Given the description of an element on the screen output the (x, y) to click on. 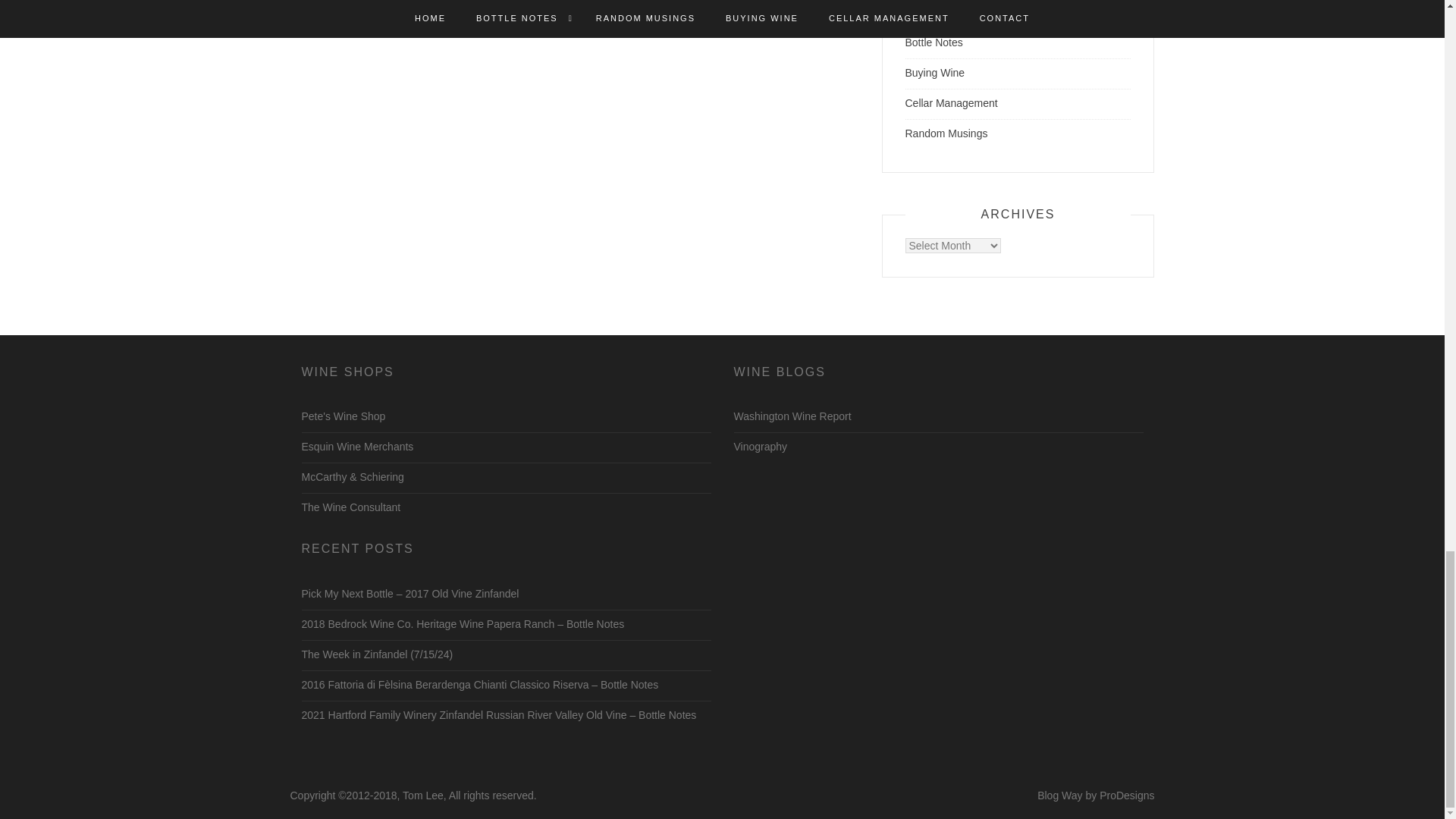
Esquin (357, 446)
The Wine Consultant (351, 507)
